Given the description of an element on the screen output the (x, y) to click on. 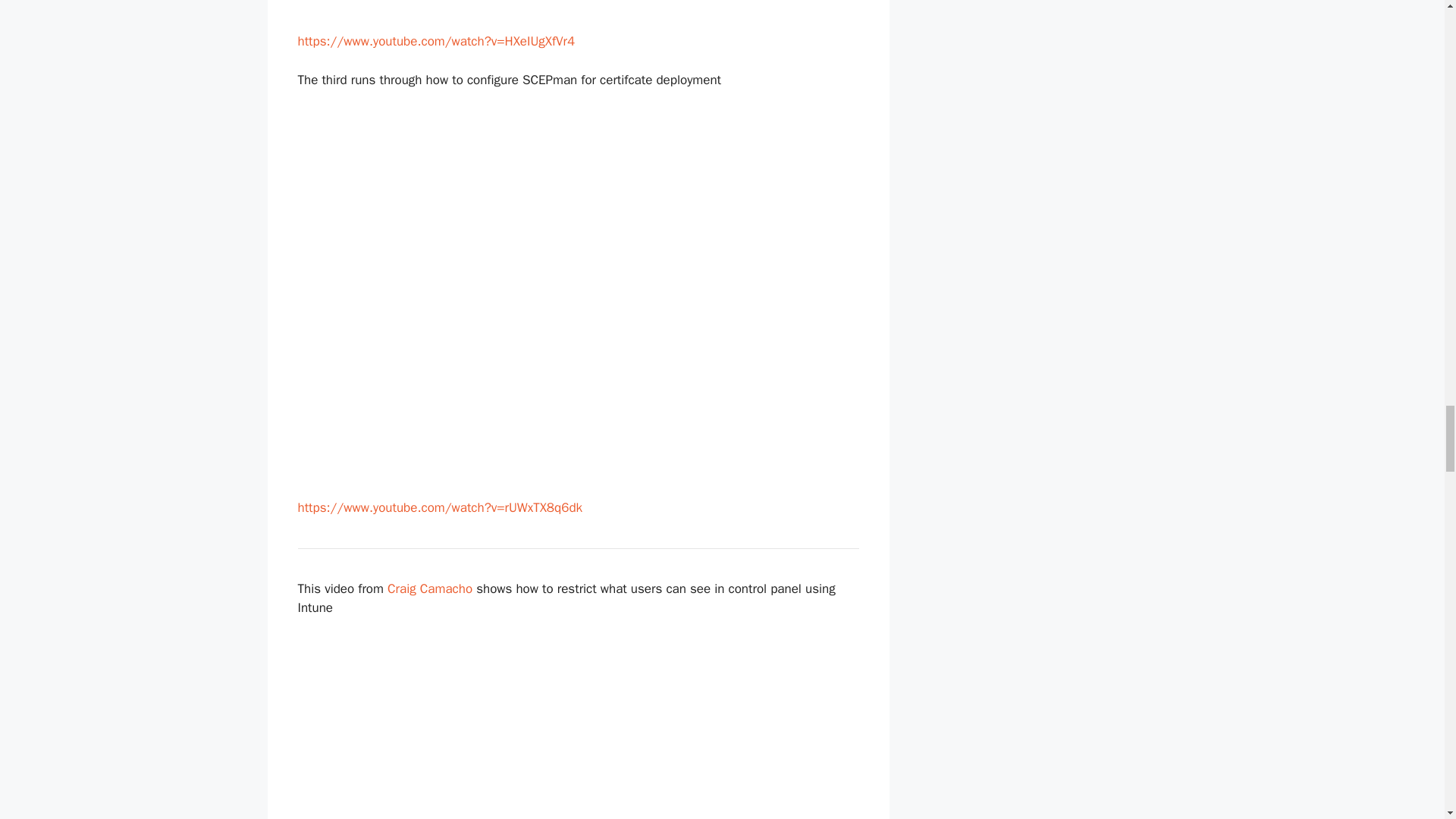
Using the Graph X-Ray Browser Extension (578, 12)
